Given the description of an element on the screen output the (x, y) to click on. 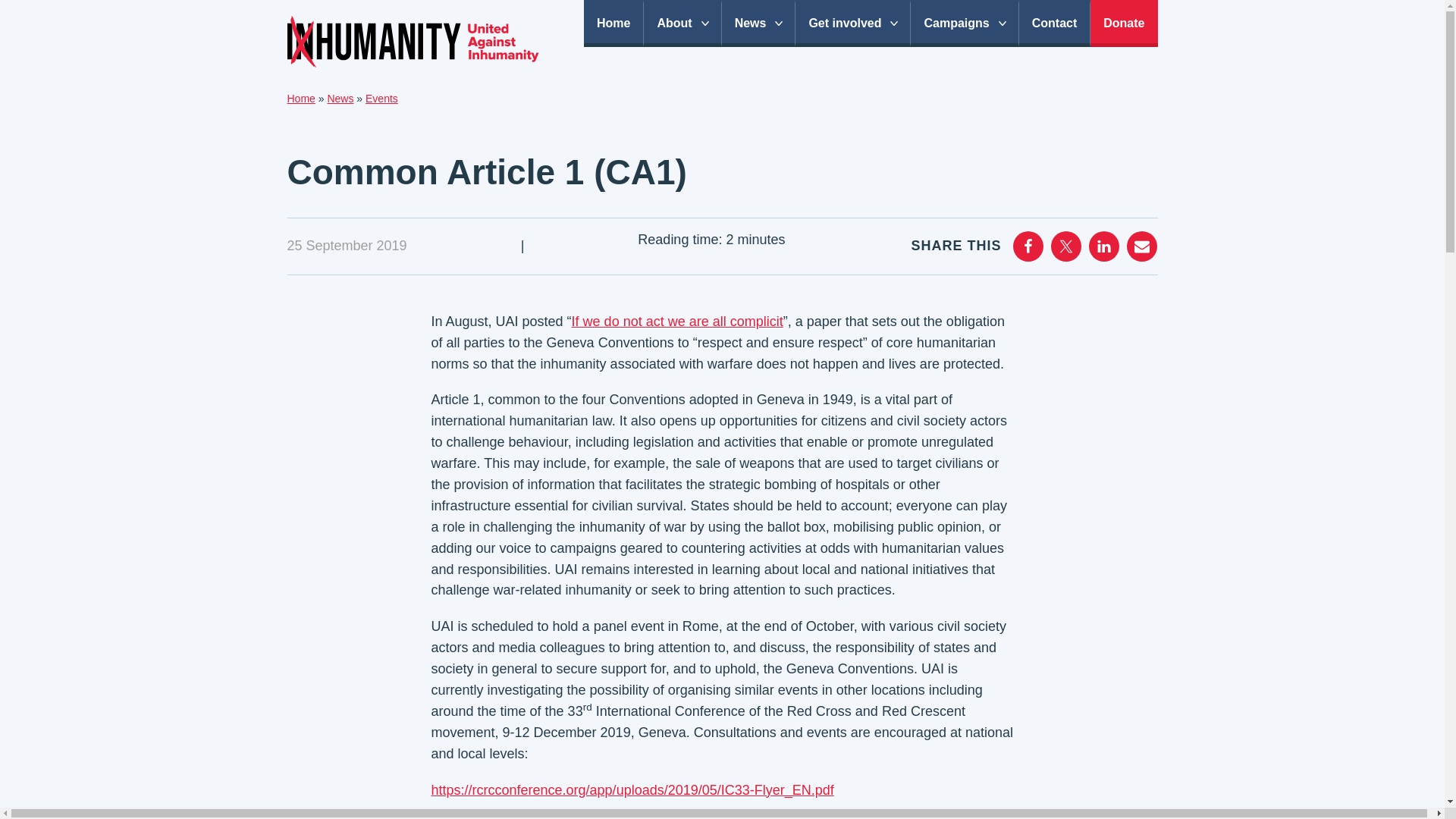
Share on Twitter (1066, 245)
News (339, 98)
Share on Facebook (1028, 245)
United Against Inhumanity (412, 41)
Share on LinkedIn (1104, 245)
Share via Email (1141, 245)
Contact (1054, 23)
Get involved (852, 23)
Donate (1123, 23)
If we do not act we are all complicit (677, 321)
News (759, 23)
Home (300, 98)
Events (381, 98)
About (681, 23)
Campaigns (964, 23)
